Given the description of an element on the screen output the (x, y) to click on. 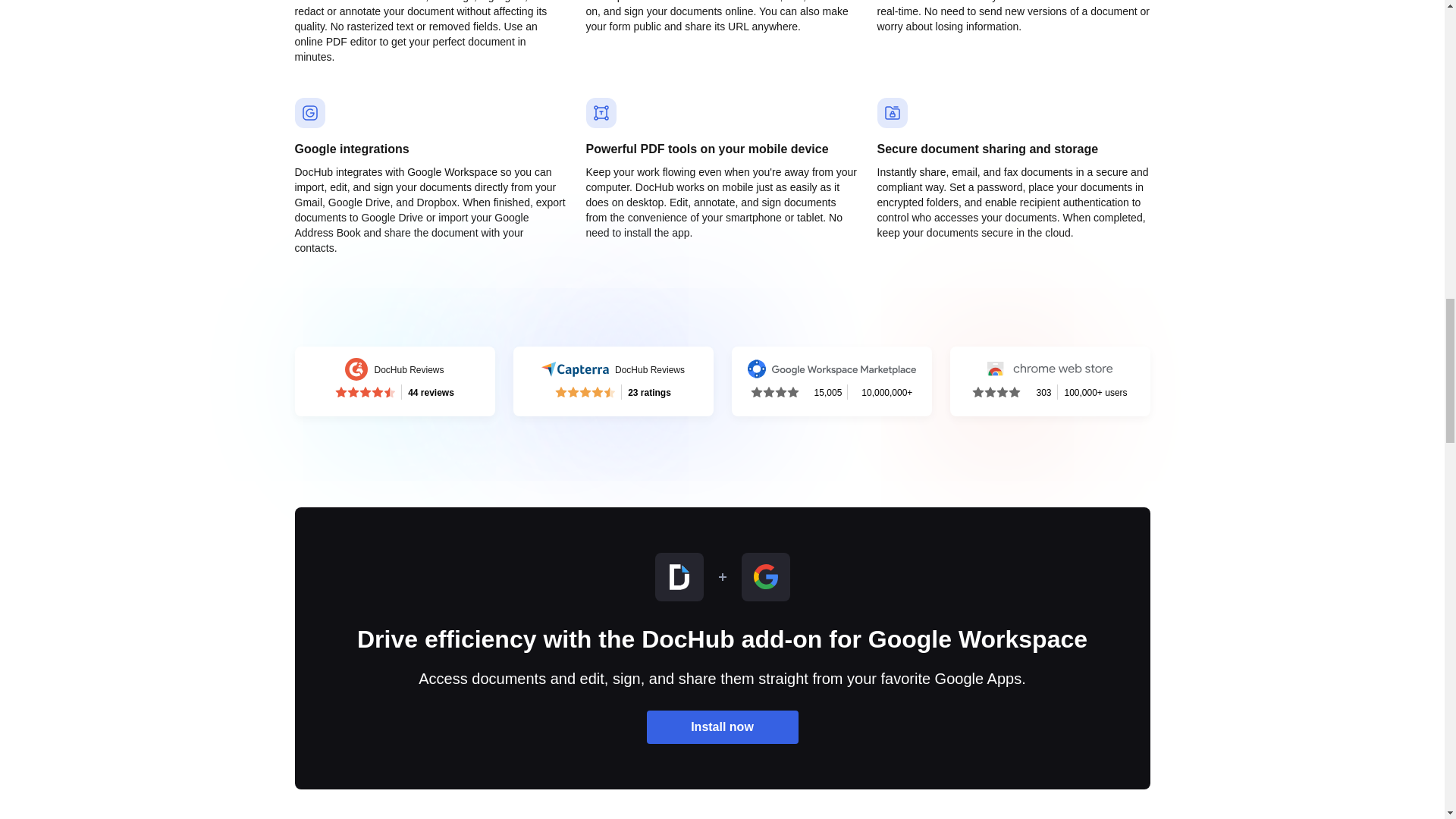
Install now (394, 381)
